Given the description of an element on the screen output the (x, y) to click on. 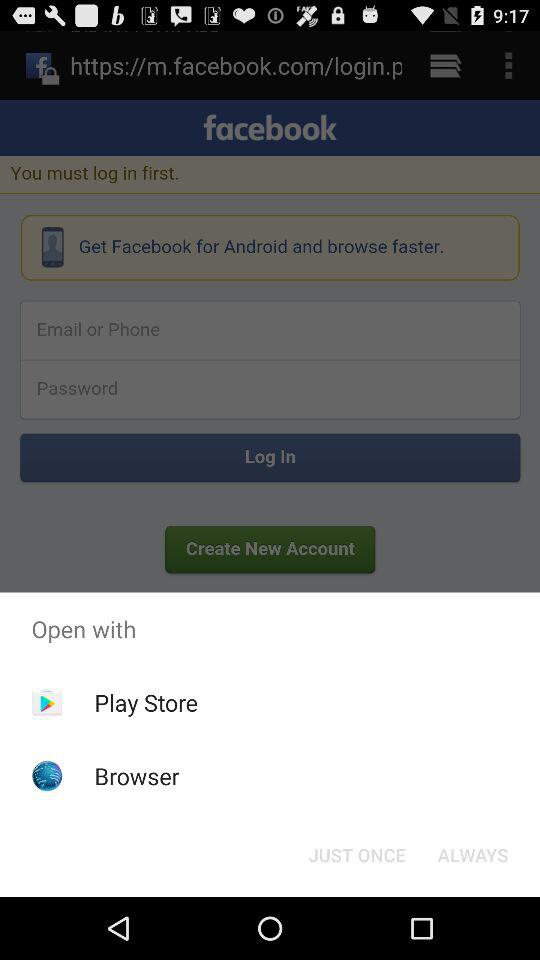
choose play store item (146, 702)
